Given the description of an element on the screen output the (x, y) to click on. 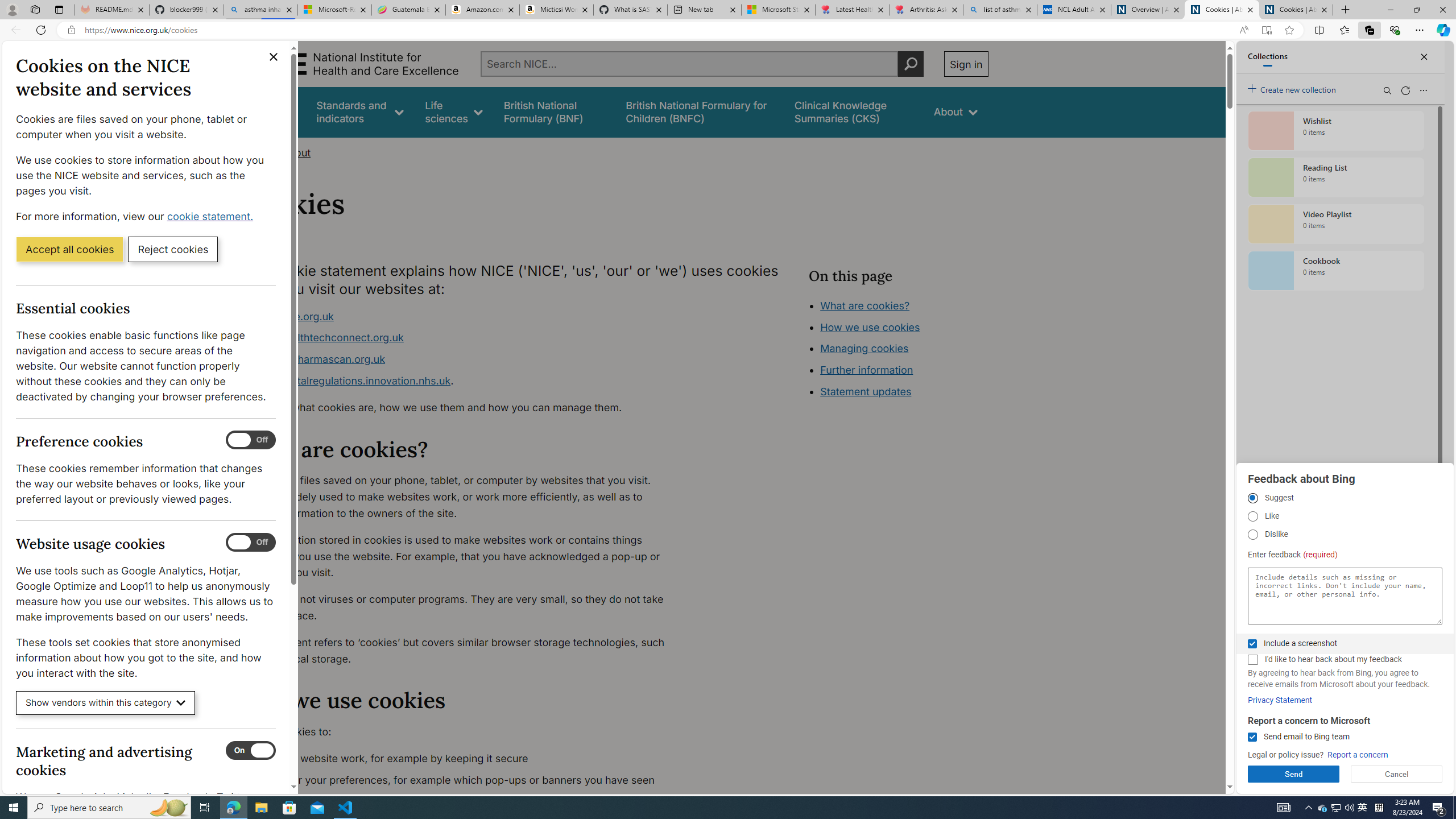
How we use cookies (869, 327)
www.healthtechconnect.org.uk (327, 337)
Close cookie banner (273, 56)
www.ukpharmascan.org.uk (464, 359)
Marketing and advertising cookies (250, 750)
